Given the description of an element on the screen output the (x, y) to click on. 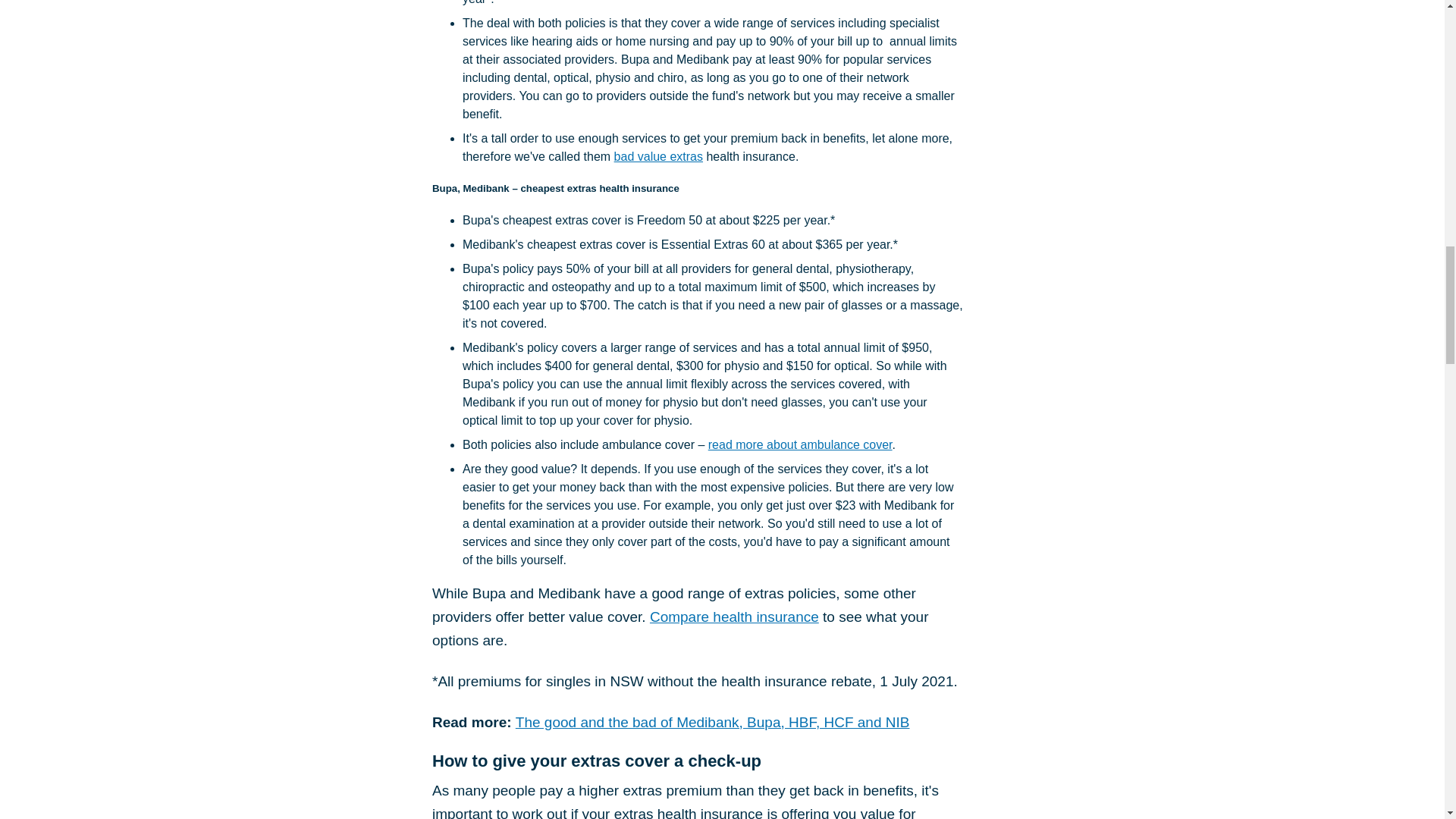
The good and the bad of Medibank, Bupa, HBF, HCF and NIB (712, 721)
read more about ambulance cover (799, 444)
bad value extras (658, 155)
Compare health insurance (733, 616)
